Given the description of an element on the screen output the (x, y) to click on. 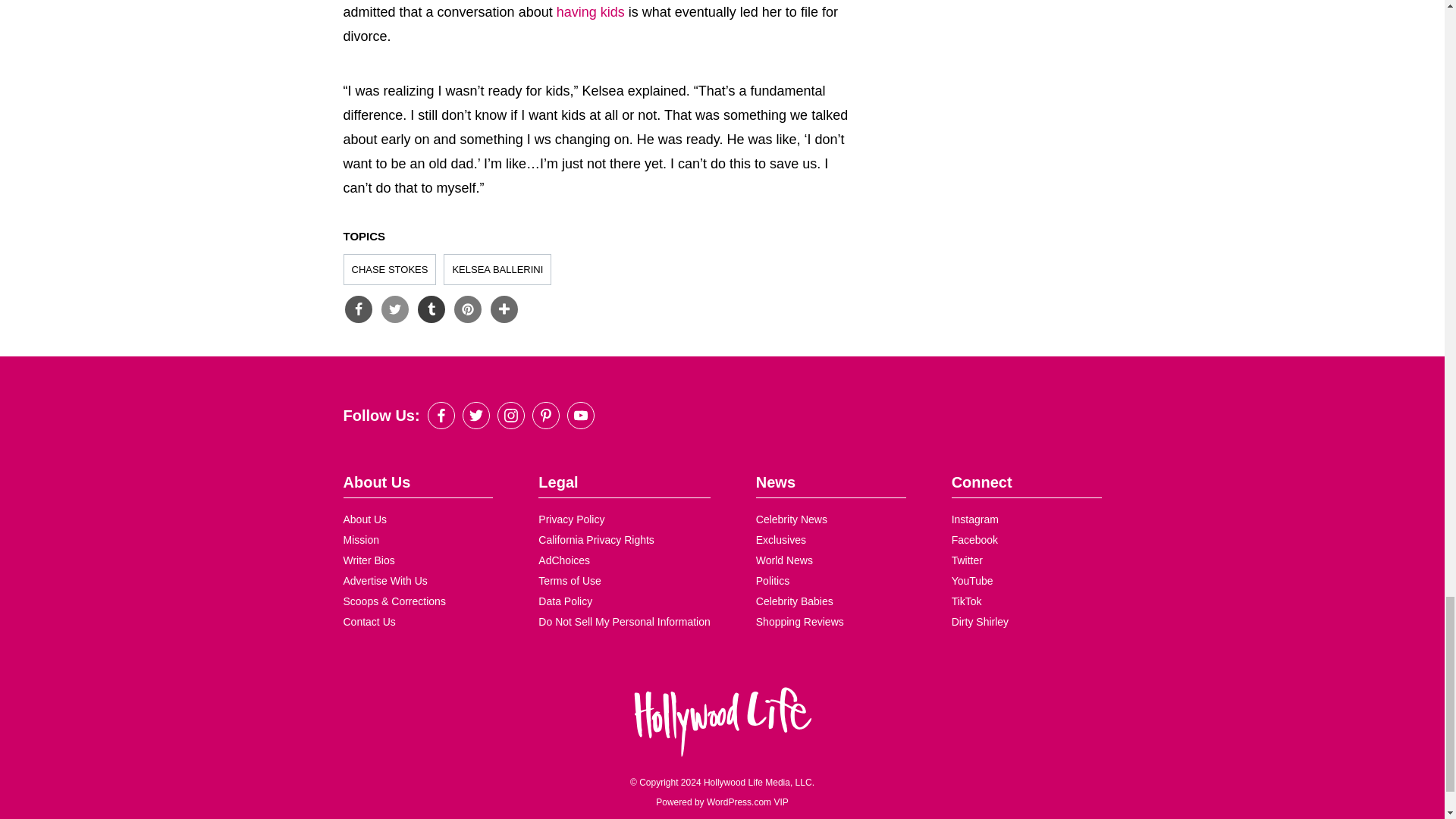
Post to Tumblr (430, 308)
Share on Facebook (357, 308)
Tweet (393, 308)
Pin it (466, 308)
More Share Options (502, 308)
